Given the description of an element on the screen output the (x, y) to click on. 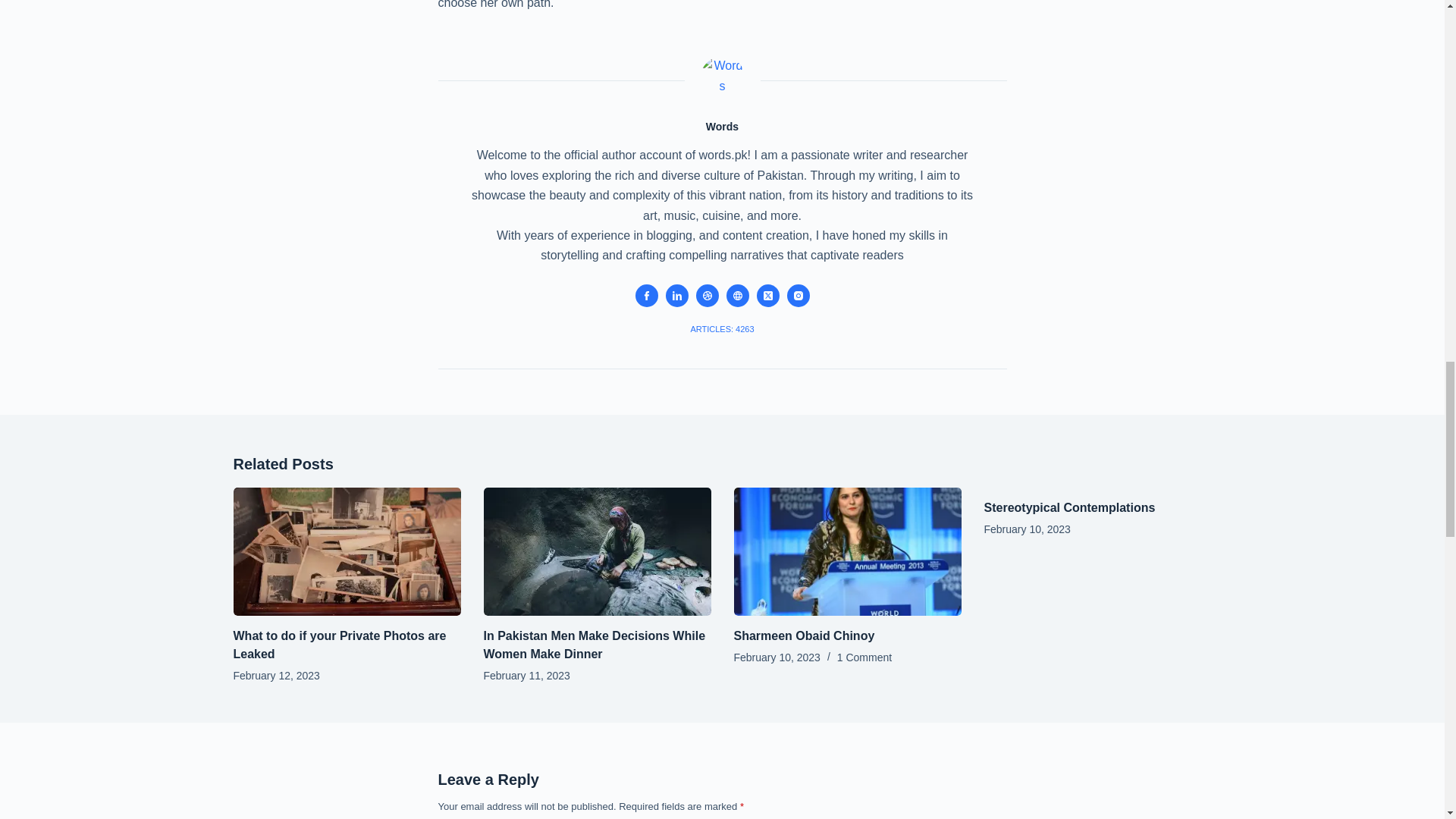
What to do if your Private Photos are Leaked (339, 644)
ARTICLES: 4263 (722, 328)
In Pakistan Men Make Decisions While Women Make Dinner (594, 644)
